Given the description of an element on the screen output the (x, y) to click on. 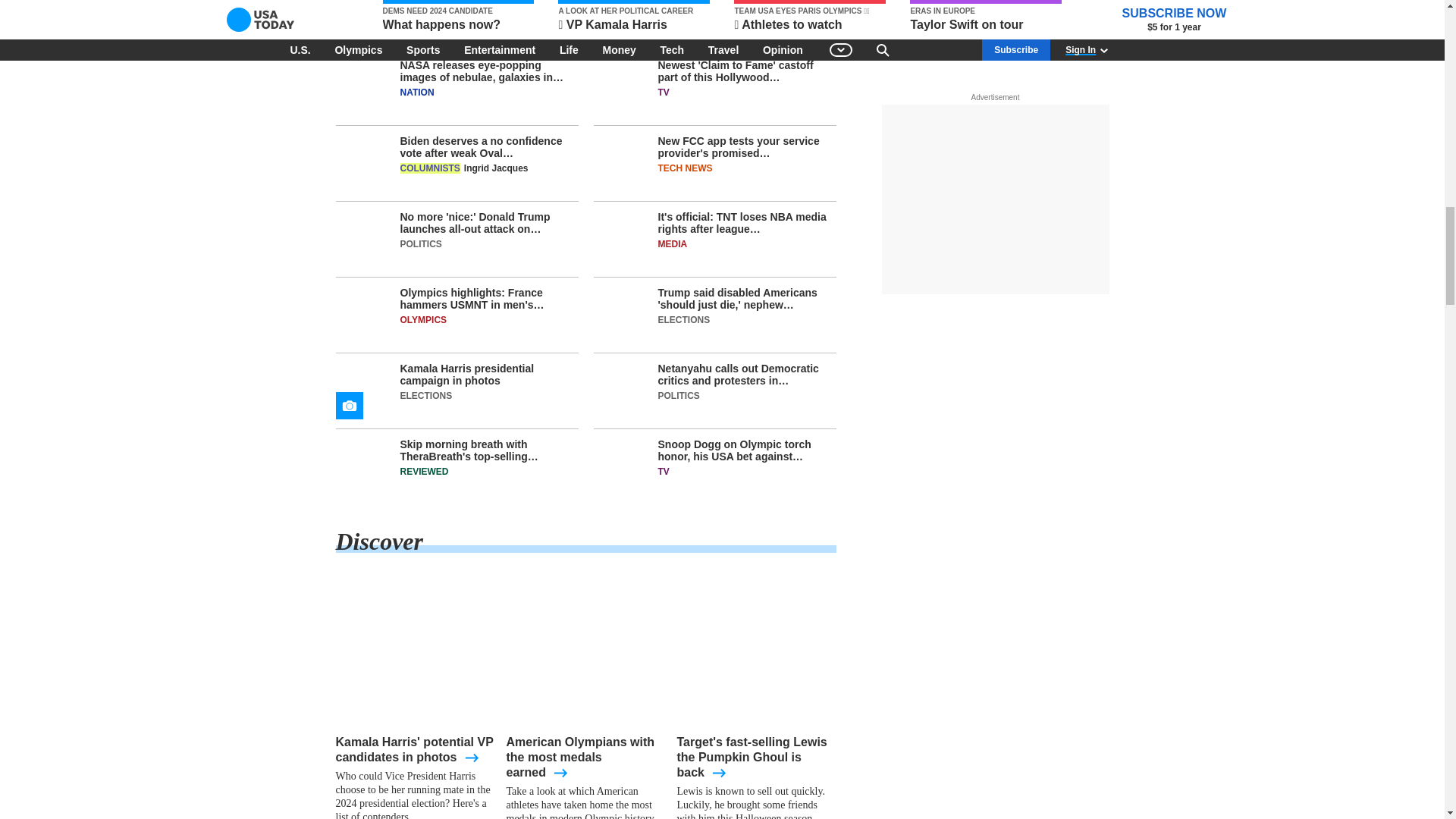
Humpback whale crashes into boat throwing men overboard (448, 16)
